Given the description of an element on the screen output the (x, y) to click on. 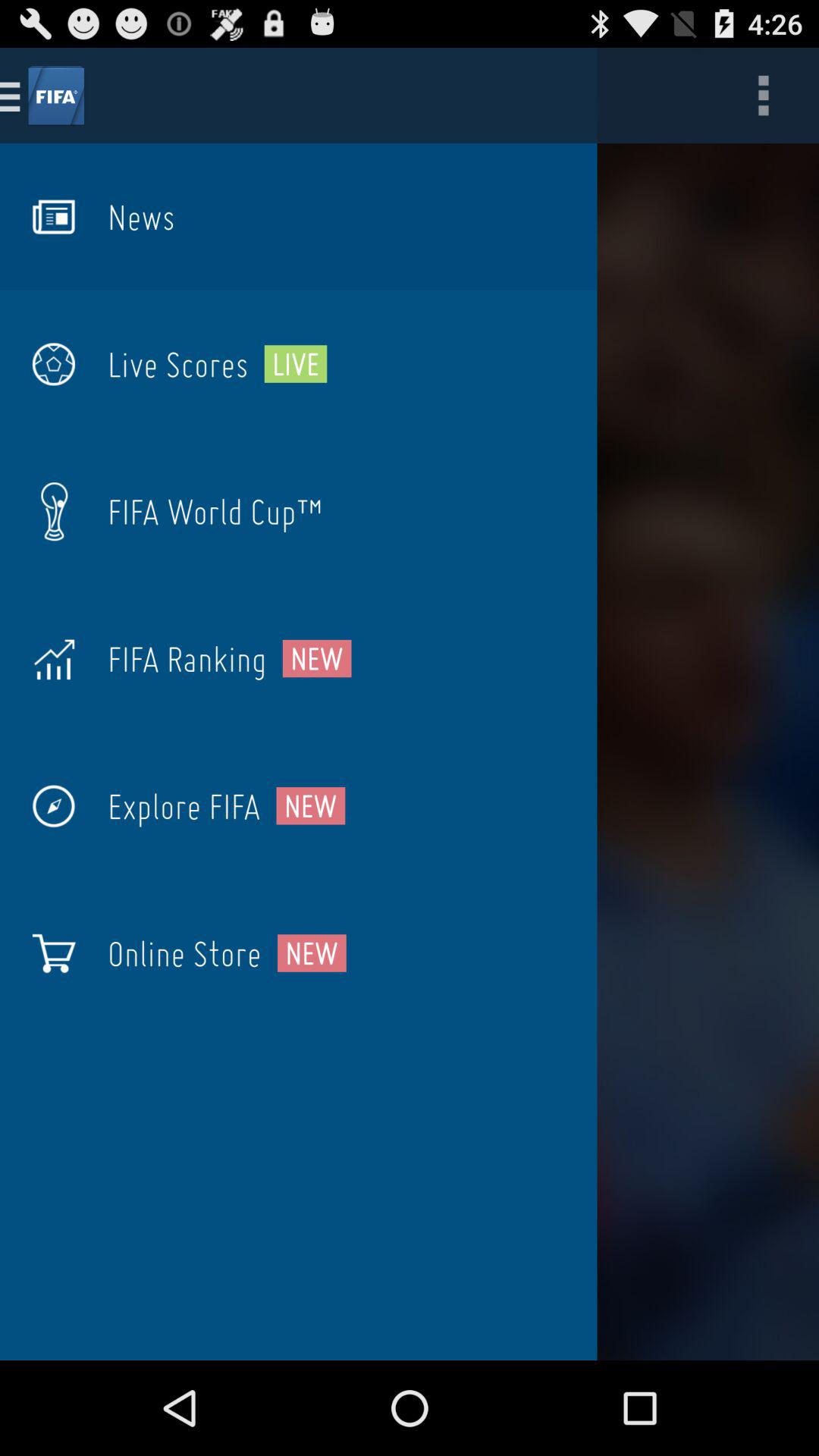
flip to news item (141, 216)
